Given the description of an element on the screen output the (x, y) to click on. 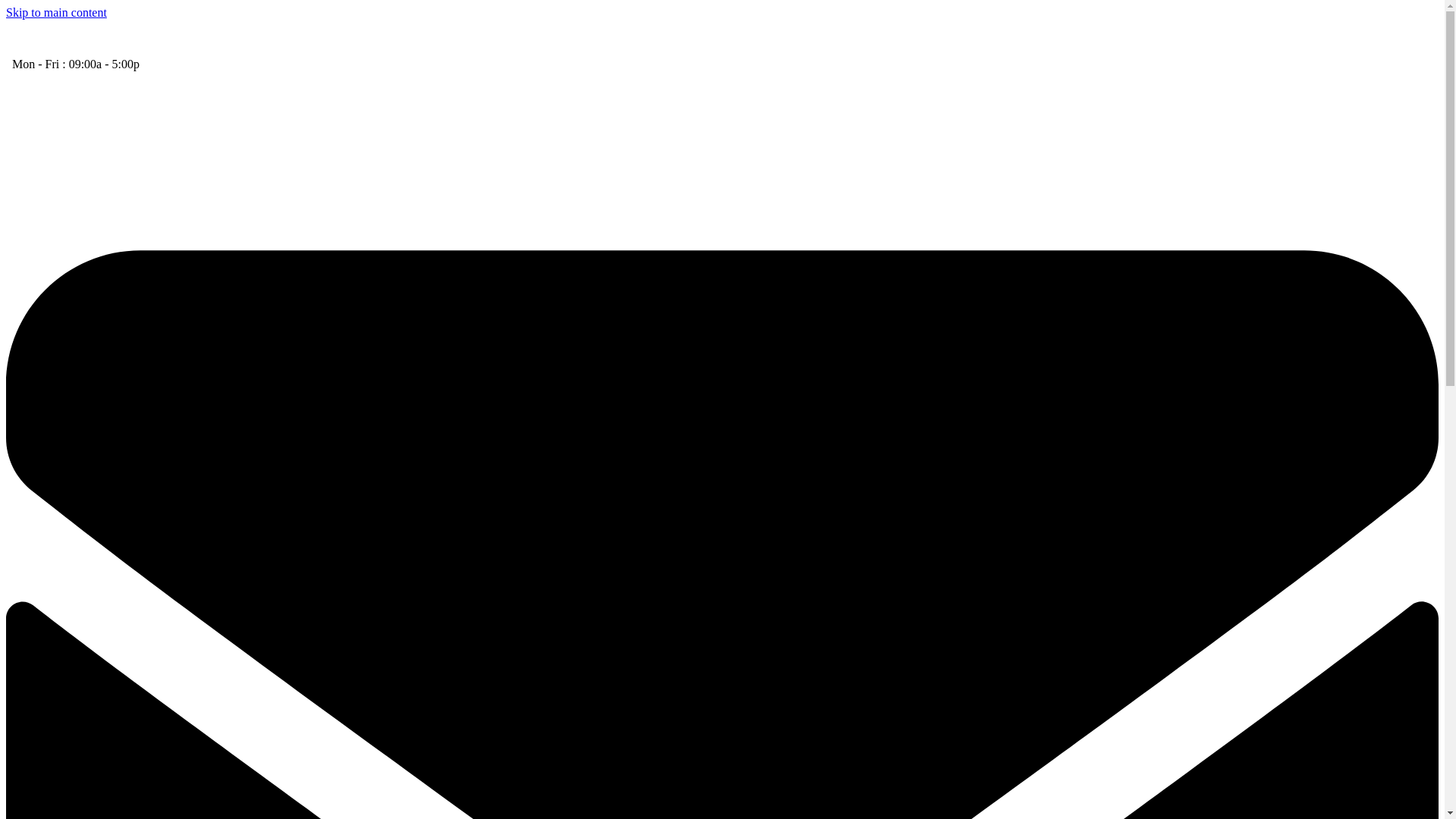
Skip to main content (55, 11)
